Given the description of an element on the screen output the (x, y) to click on. 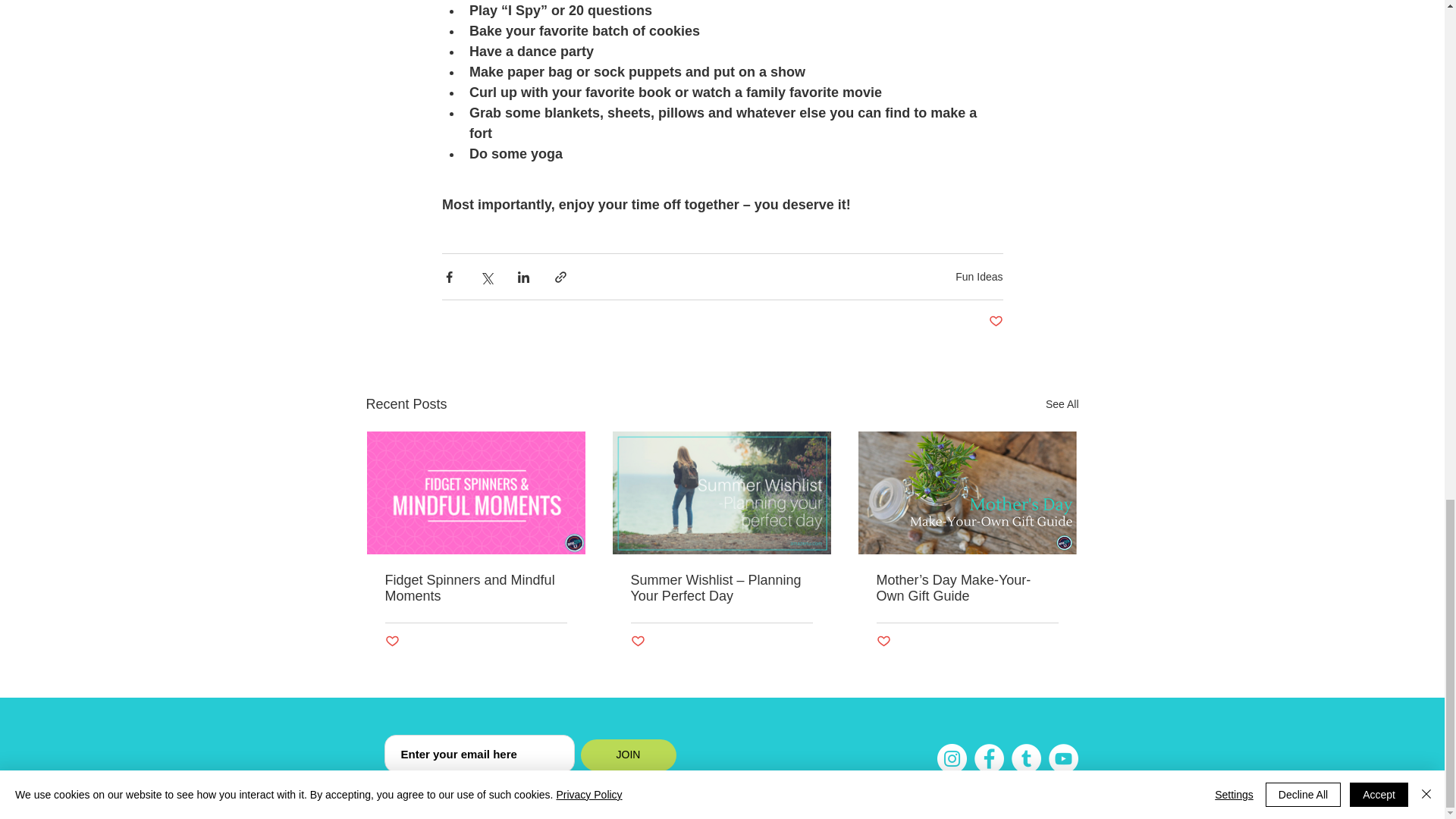
See All (1061, 404)
Post not marked as liked (995, 321)
Fidget Spinners and Mindful Moments (476, 588)
Post not marked as liked (391, 641)
Fun Ideas (979, 276)
